Given the description of an element on the screen output the (x, y) to click on. 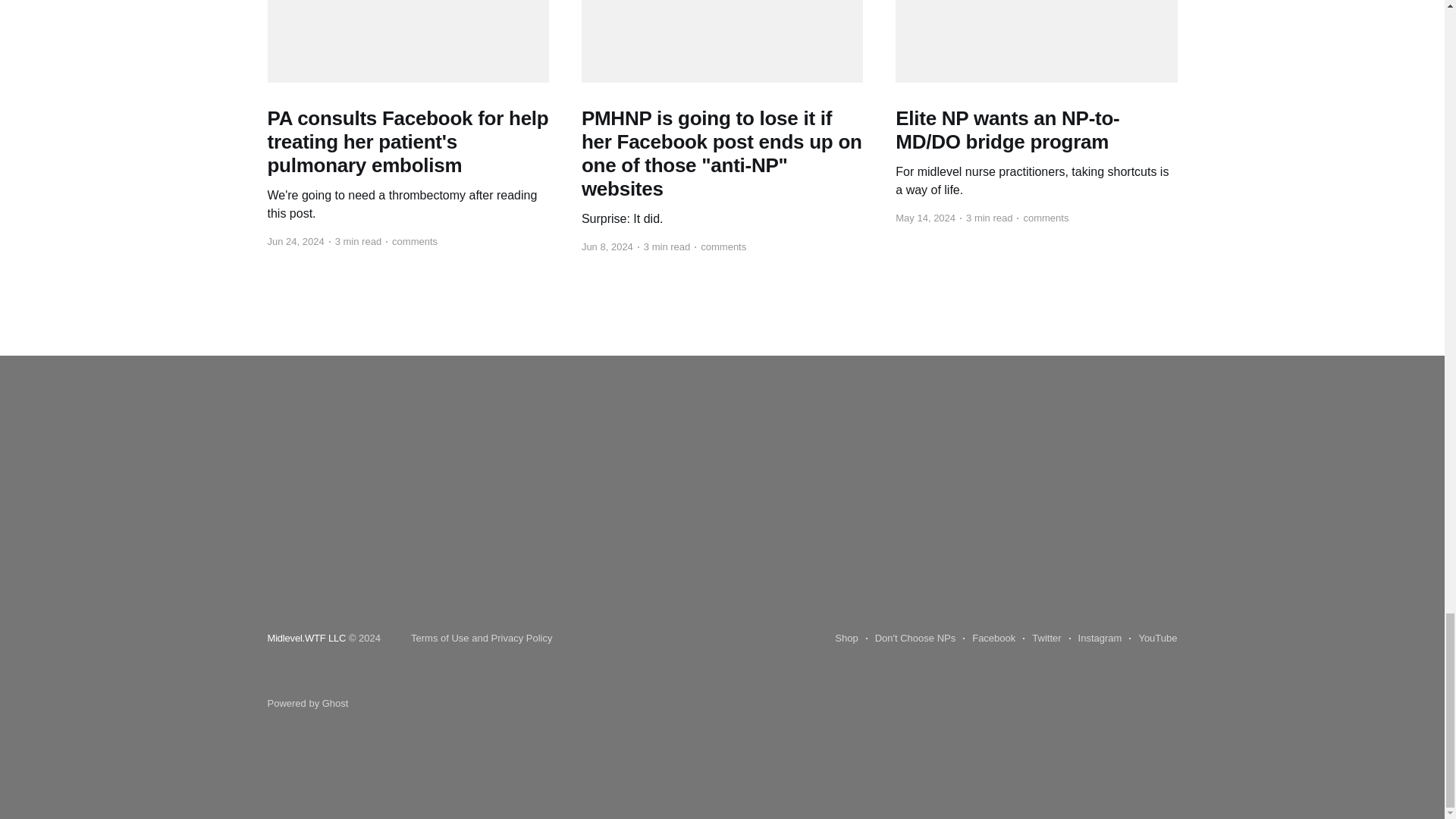
Facebook (988, 638)
comments (1042, 218)
Instagram (1095, 638)
Don't Choose NPs (911, 638)
comments (719, 247)
Privacy Policy (522, 637)
YouTube (1152, 638)
Shop (845, 638)
Powered by Ghost (306, 703)
Twitter (1042, 638)
comments (411, 241)
Midlevel.WTF LLC (306, 637)
Terms of Use (439, 637)
